Given the description of an element on the screen output the (x, y) to click on. 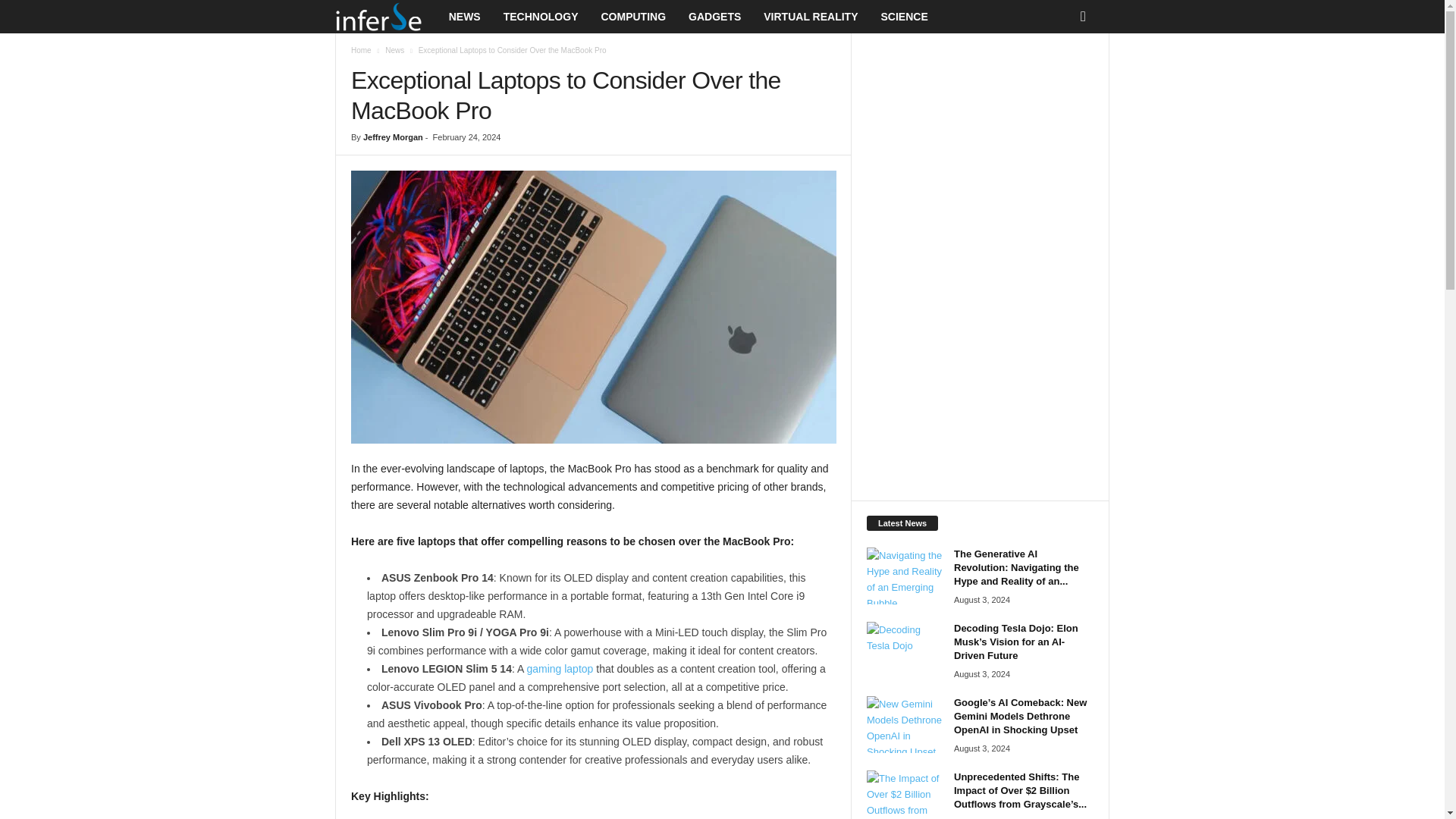
COMPUTING (633, 16)
News (394, 49)
VIRTUAL REALITY (810, 16)
GADGETS (714, 16)
Inferse (378, 16)
Jeffrey Morgan (392, 136)
Home (360, 49)
TECHNOLOGY (540, 16)
SCIENCE (904, 16)
NEWS (465, 16)
Inferse.com (386, 17)
5 Exceptional laptops (592, 306)
View all posts in News (394, 49)
gaming laptop (558, 668)
